Given the description of an element on the screen output the (x, y) to click on. 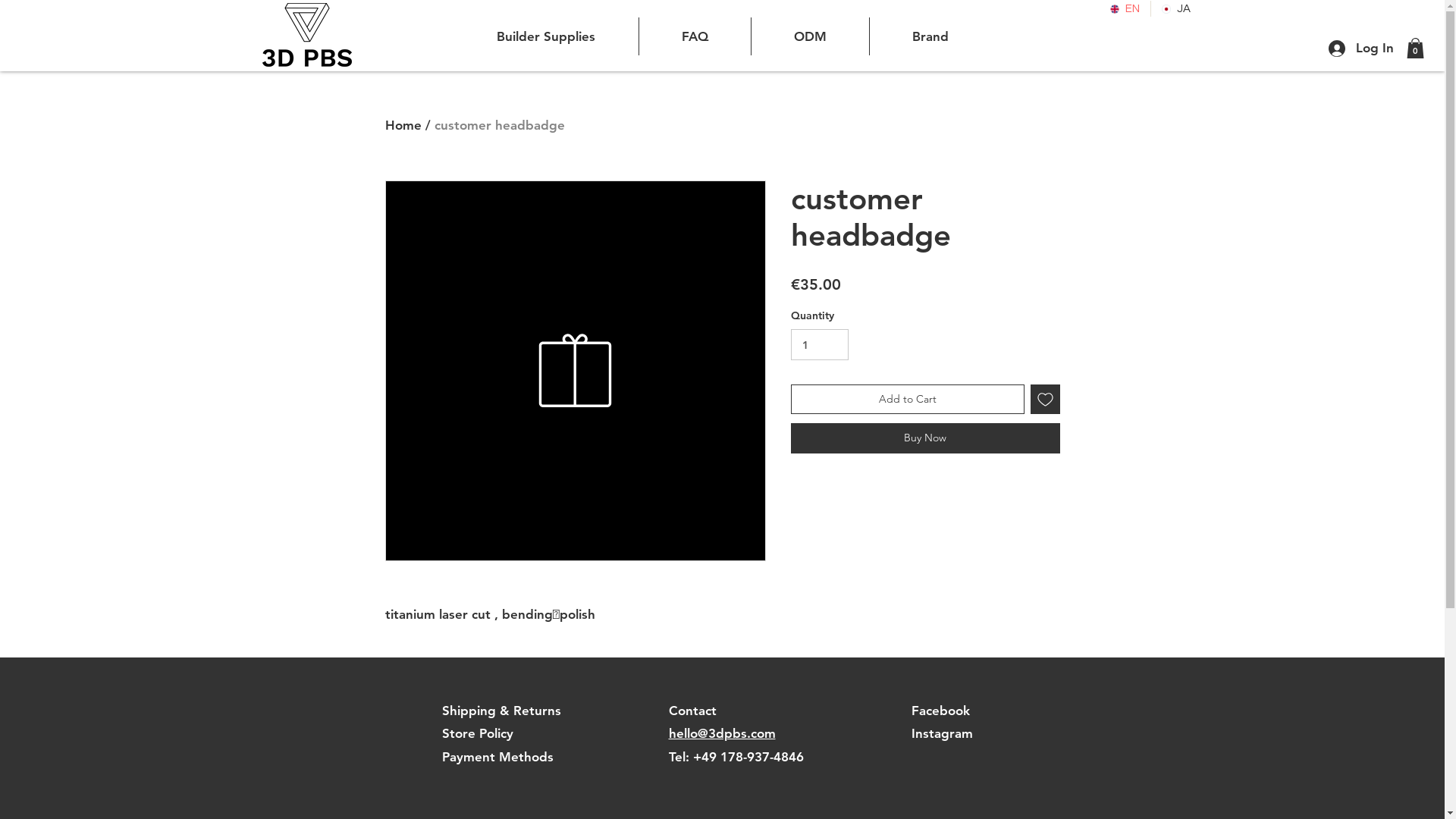
Home Element type: text (403, 124)
Facebook Element type: text (940, 710)
Contact Element type: text (692, 710)
FAQ Element type: text (693, 36)
Brand Element type: text (929, 36)
0 Element type: text (1415, 47)
customer headbadge Element type: text (498, 124)
JA Element type: text (1175, 8)
Payment Methods Element type: text (496, 756)
ODM Element type: text (809, 36)
Buy Now Element type: text (924, 438)
Builder Supplies Element type: text (545, 36)
hello@3dpbs.com Element type: text (721, 732)
Instagram Element type: text (941, 732)
Log In Element type: text (1360, 48)
Store Policy Element type: text (476, 732)
Shipping & Returns Element type: text (500, 710)
Add to Cart Element type: text (906, 399)
EN Element type: text (1125, 8)
